Given the description of an element on the screen output the (x, y) to click on. 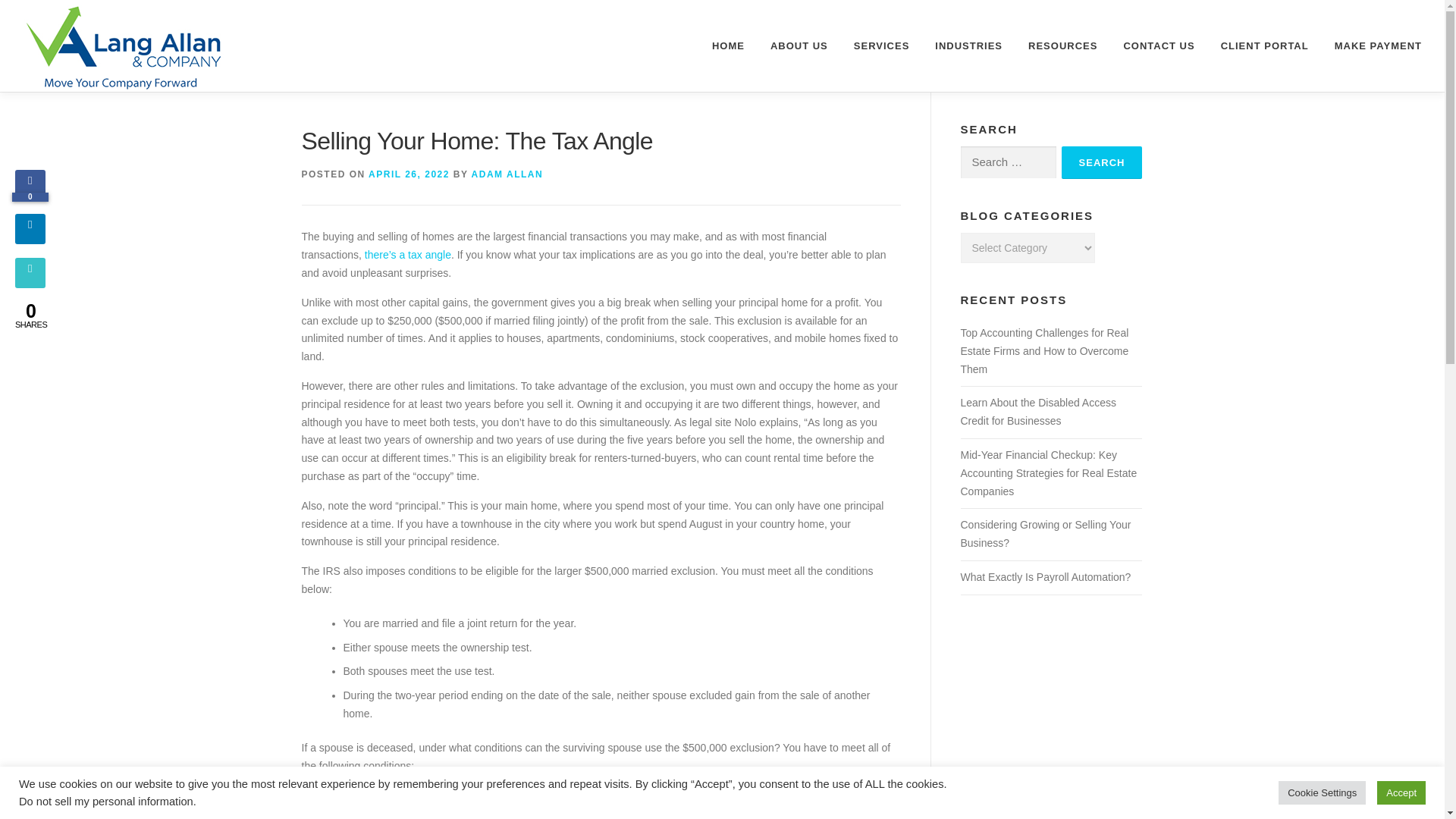
Search (1101, 162)
CONTACT US (1158, 45)
ABOUT US (799, 45)
CLIENT PORTAL (1265, 45)
Share on Facebook (29, 195)
INDUSTRIES (967, 45)
Search (1101, 162)
MAKE PAYMENT (1372, 45)
Print this page (29, 283)
APRIL 26, 2022 (408, 173)
Share on LinkedIn (29, 239)
ADAM ALLAN (507, 173)
RESOURCES (1061, 45)
SERVICES (882, 45)
